Given the description of an element on the screen output the (x, y) to click on. 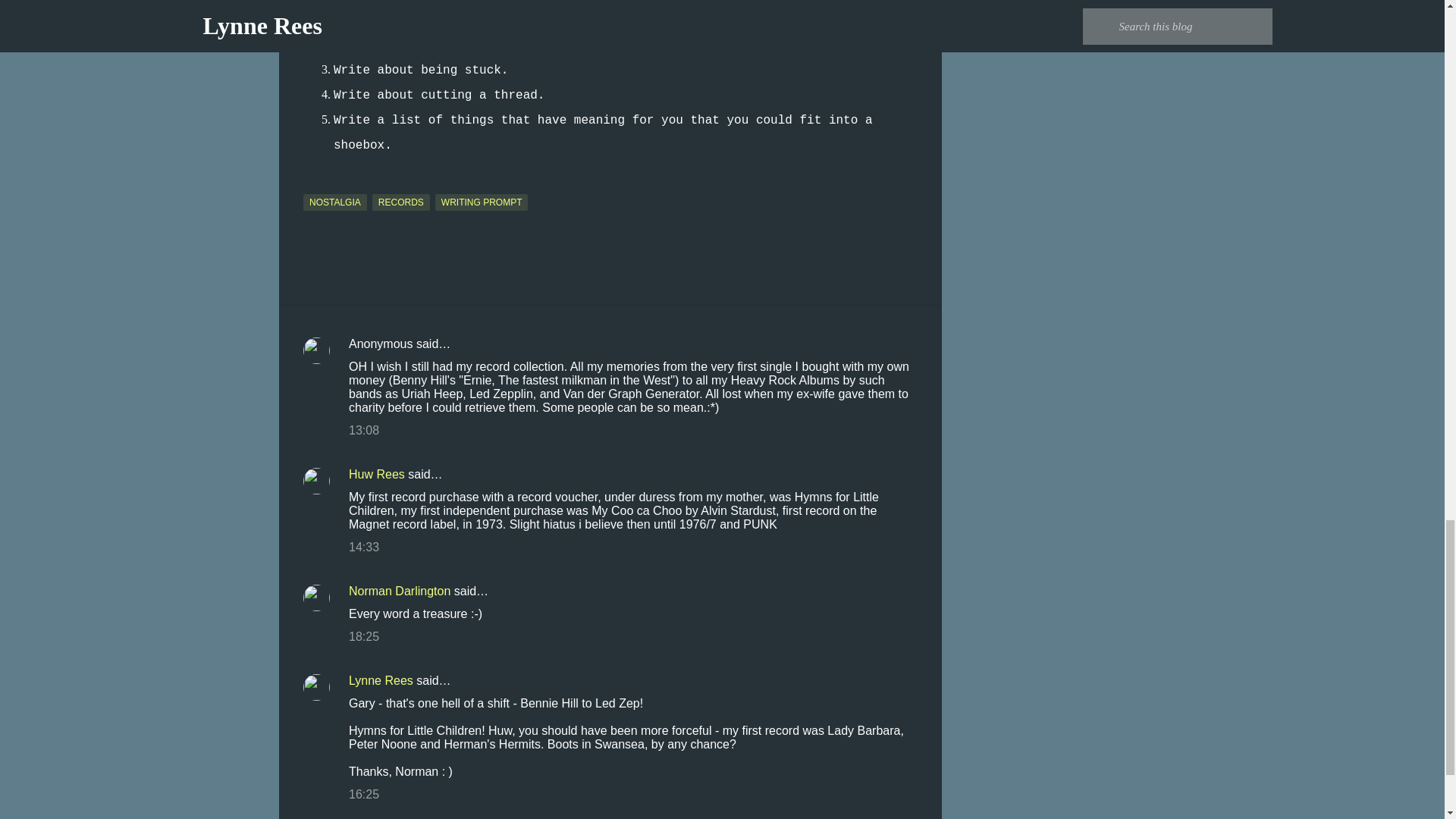
Lynne Rees (381, 680)
Email Post (311, 184)
Huw Rees (376, 473)
RECORDS (400, 202)
16:25 (363, 793)
13:08 (363, 430)
comment permalink (363, 430)
14:33 (363, 546)
Norman Darlington (399, 590)
WRITING PROMPT (481, 202)
18:25 (363, 635)
NOSTALGIA (334, 202)
